Given the description of an element on the screen output the (x, y) to click on. 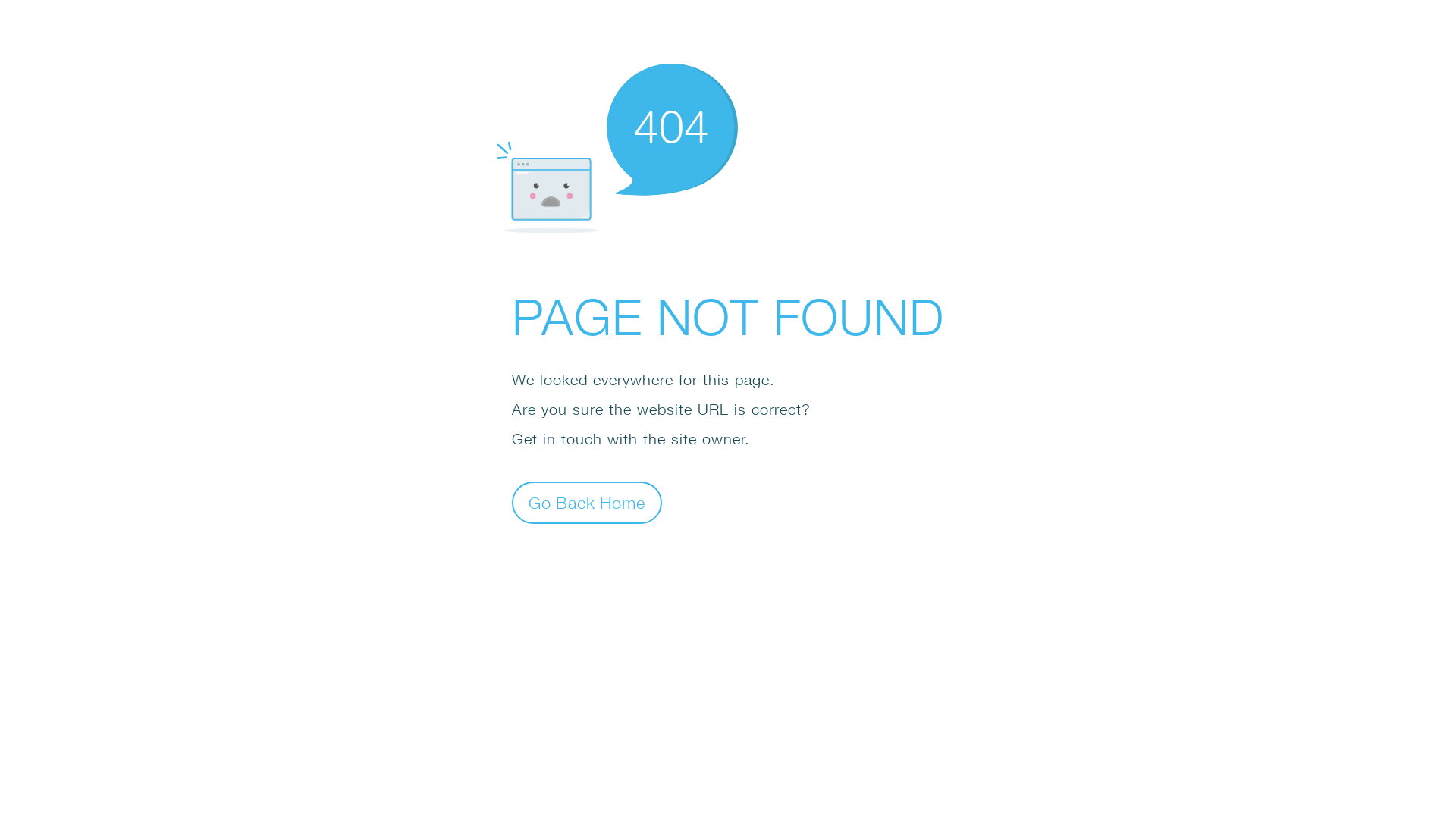
Go Back Home Element type: text (586, 502)
